Given the description of an element on the screen output the (x, y) to click on. 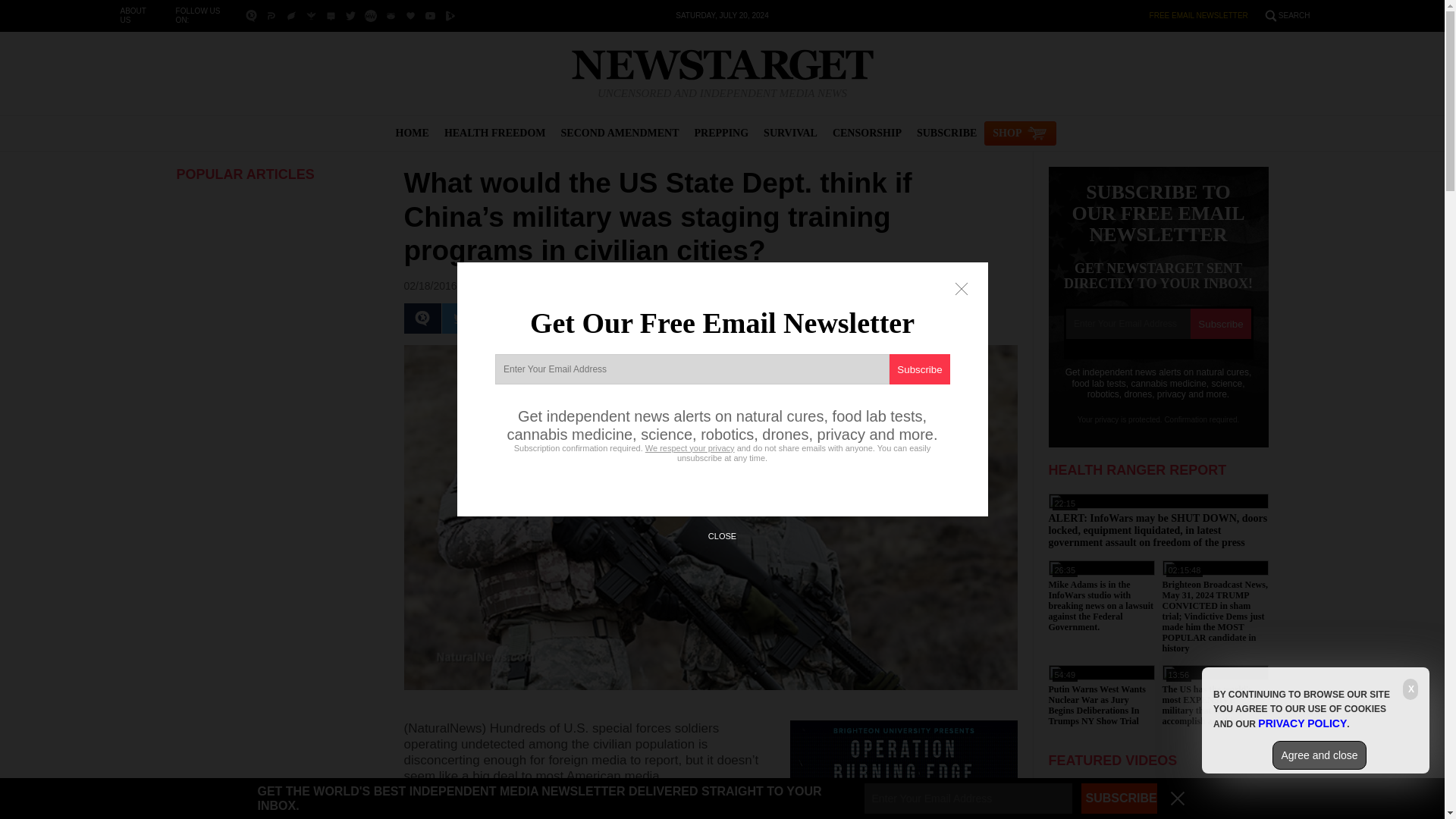
Survival (790, 133)
Parler (270, 15)
MeWe (370, 15)
FREE EMAIL NEWSLETTER (1198, 15)
PureSocial (330, 15)
Search (1293, 15)
HOME (412, 133)
CENSORSHIP (866, 133)
Health Freedom (494, 133)
About Us (132, 15)
SECOND AMENDMENT (620, 133)
Gettr (291, 15)
Gab (390, 15)
USA.Life (410, 15)
By JD Heyes (496, 285)
